Given the description of an element on the screen output the (x, y) to click on. 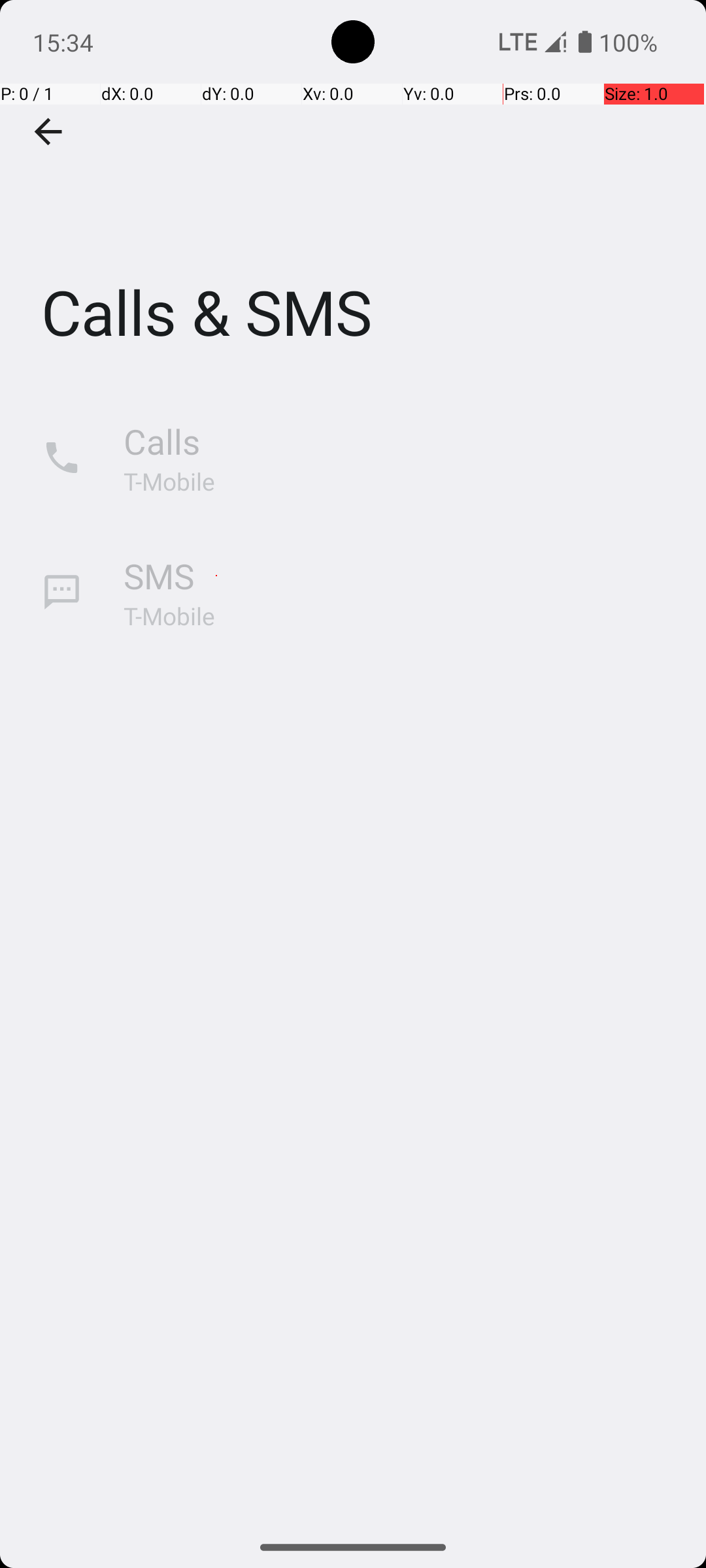
Calls Element type: android.widget.TextView (161, 441)
